Given the description of an element on the screen output the (x, y) to click on. 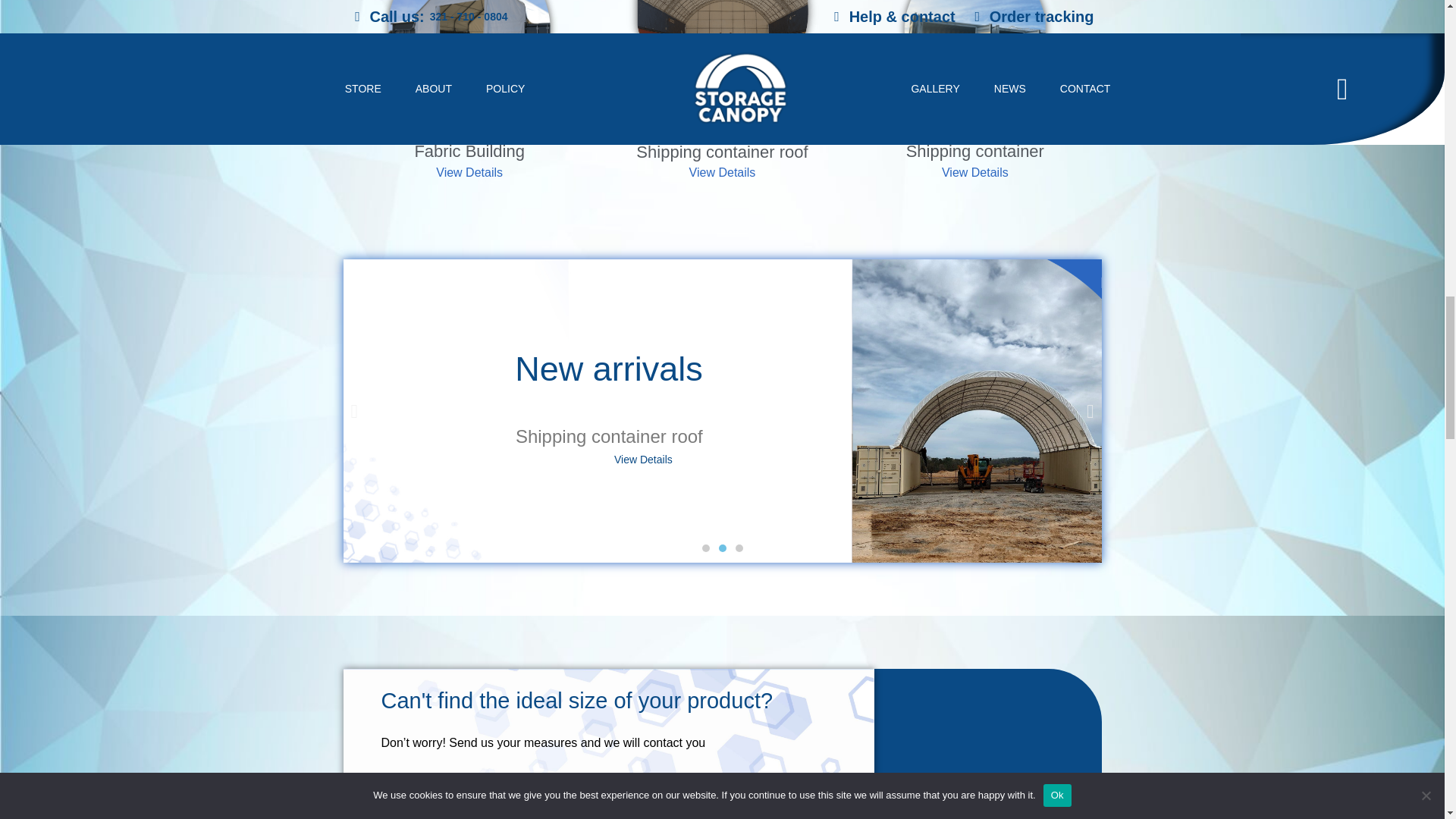
View Details (721, 172)
View Details (975, 172)
View Details (468, 172)
